Given the description of an element on the screen output the (x, y) to click on. 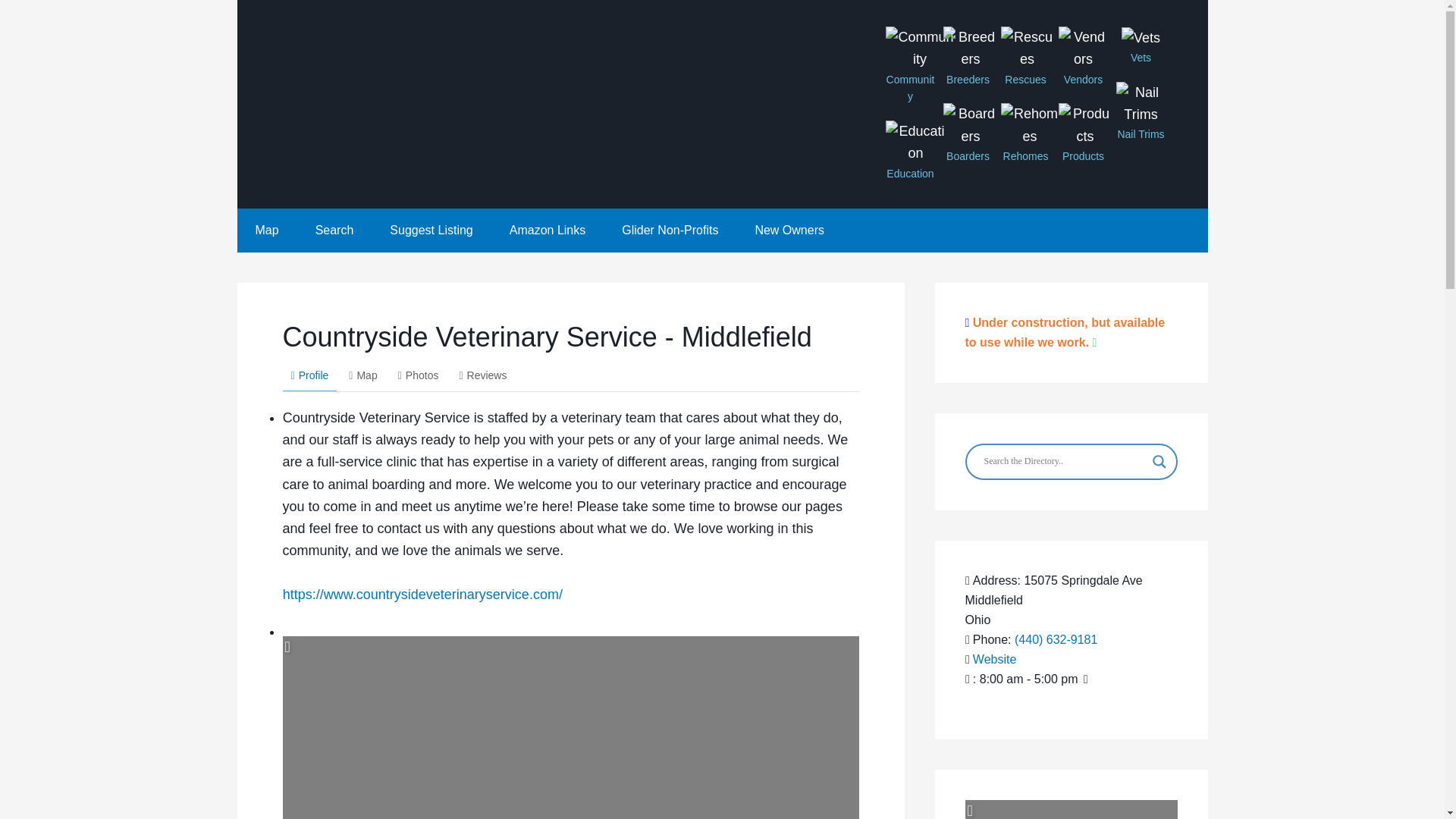
Map (362, 375)
Glider Non-Profits (670, 230)
Breeders (970, 48)
Amazon Links (548, 230)
Search (334, 230)
Vendors (1083, 48)
Community (920, 48)
Nail Trims (1141, 103)
Rescues (1027, 48)
Products (1085, 125)
